Given the description of an element on the screen output the (x, y) to click on. 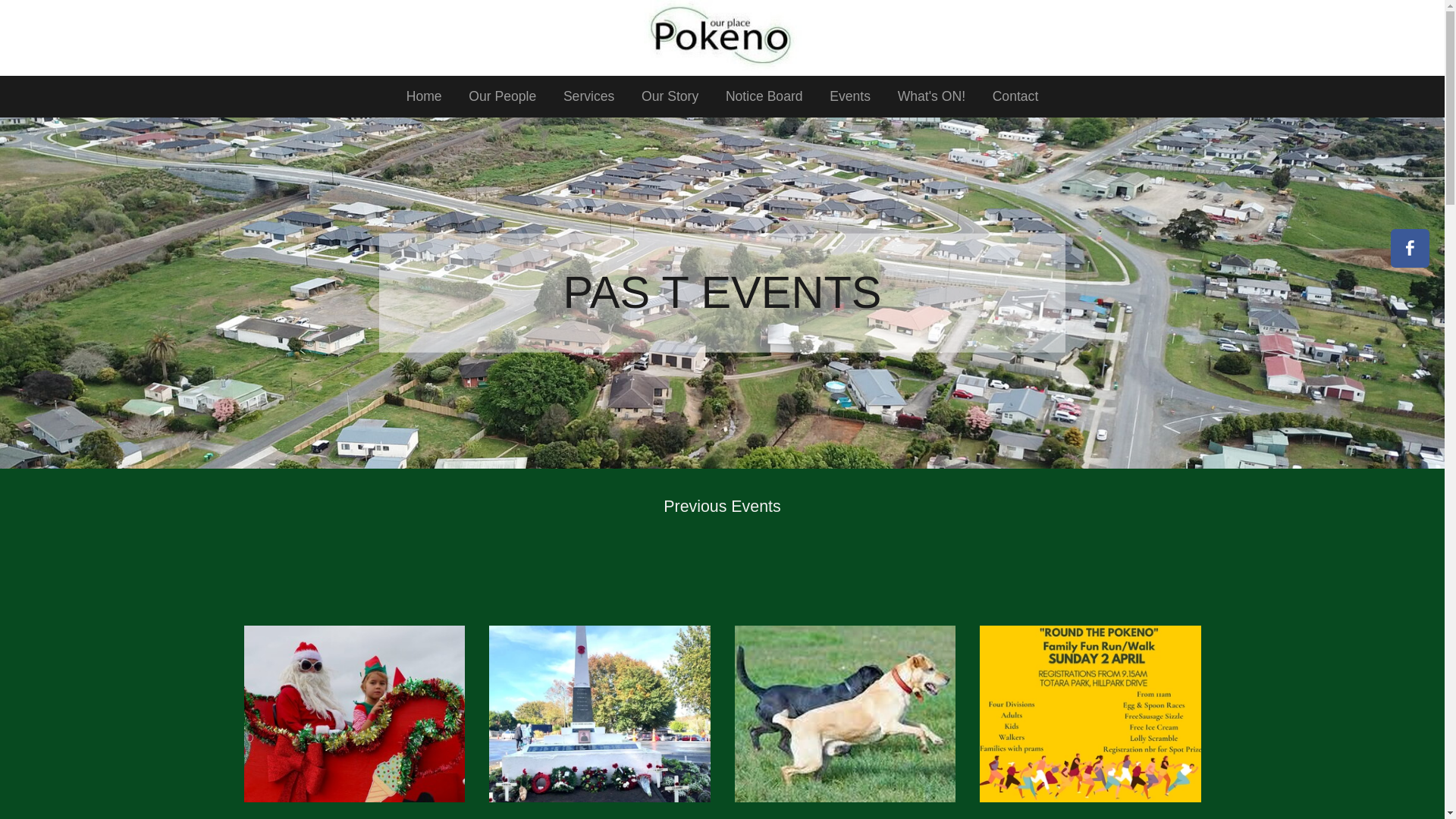
Events (849, 96)
Services (588, 96)
Home (424, 96)
A link to this website's Facebook. (1409, 248)
Contact (1014, 96)
What's ON! (930, 96)
Notice Board (763, 96)
Our People (502, 96)
Our Story (669, 96)
